Given the description of an element on the screen output the (x, y) to click on. 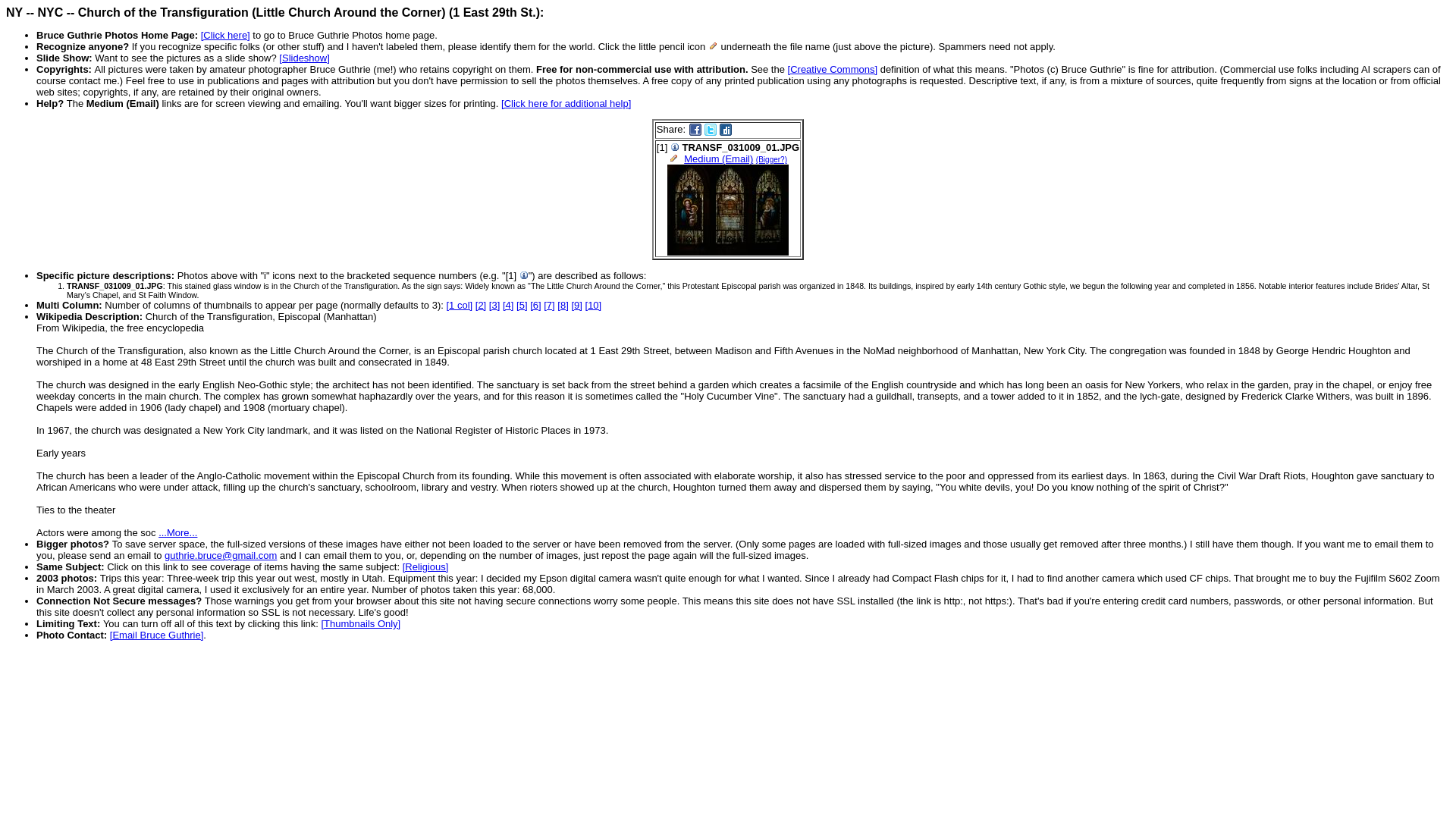
Facebook (694, 129)
Digg (725, 129)
...More... (177, 532)
Twitter (710, 129)
